Given the description of an element on the screen output the (x, y) to click on. 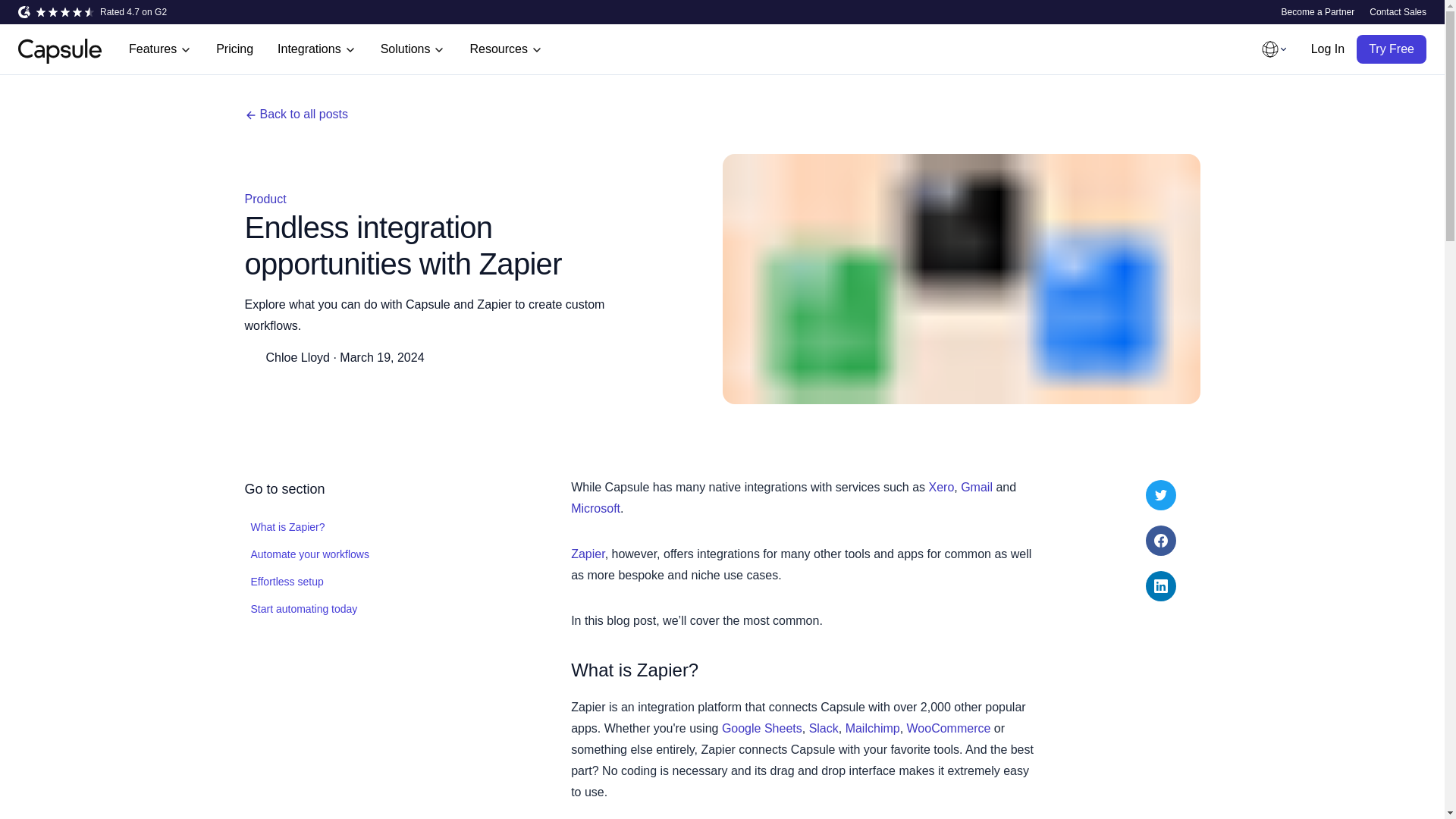
Try Capsule for free (1391, 49)
Become a Partner (1318, 11)
Features (159, 49)
Pricing (233, 49)
Rated 4.7 on G2 (92, 11)
Capsule Twitter Account (1160, 494)
Capsule Facebook Page (1160, 540)
Integrations (316, 49)
Contact Sales (1398, 11)
Solutions (413, 49)
